Given the description of an element on the screen output the (x, y) to click on. 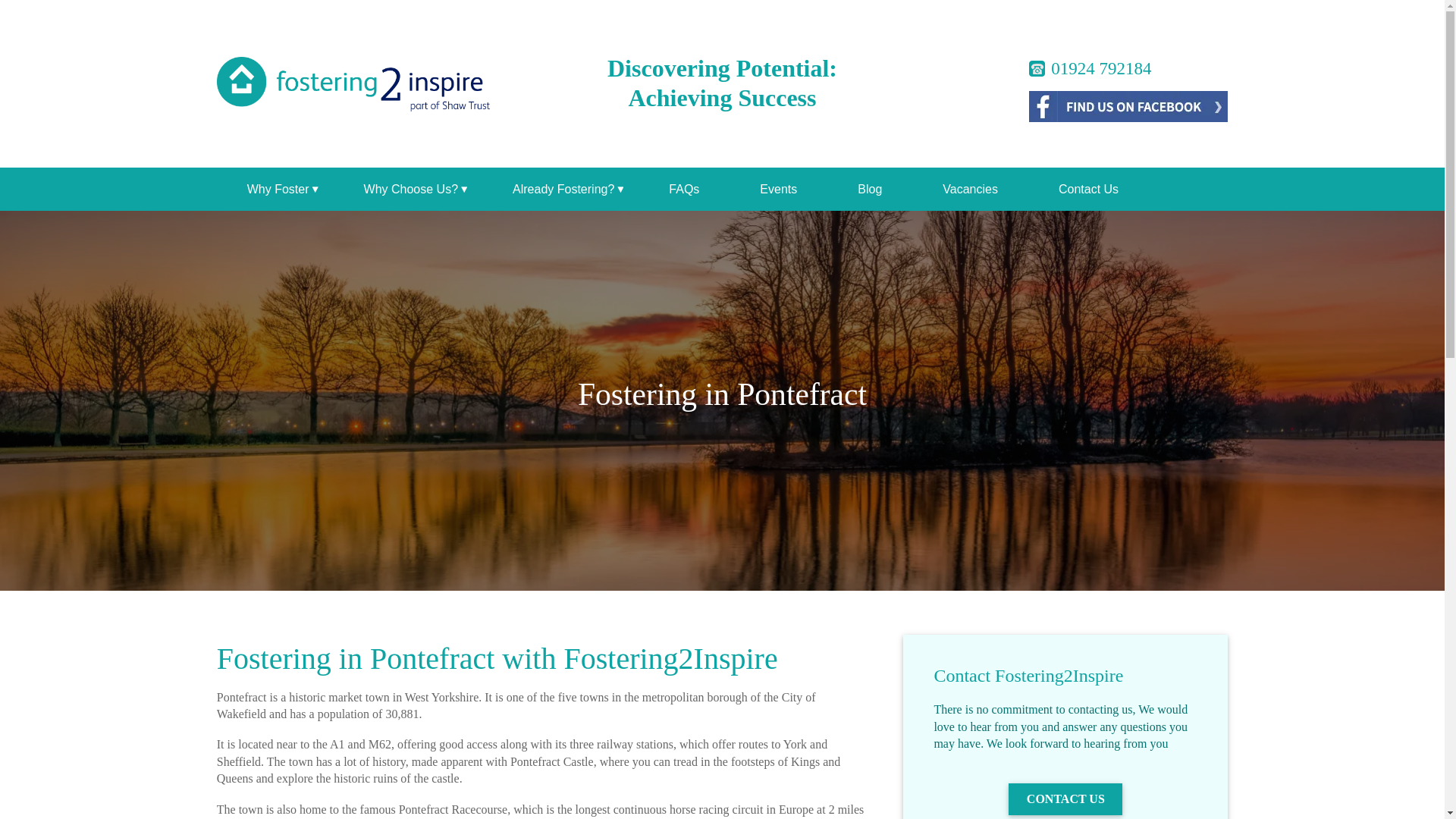
Events (778, 188)
Blog (869, 188)
Already Fostering? (560, 188)
FAQs (684, 188)
Why Choose Us? (408, 188)
Why Foster (274, 188)
CONTACT US (1065, 798)
Contact Us (1087, 188)
Vacancies (969, 188)
01924 792184 (1090, 65)
